Given the description of an element on the screen output the (x, y) to click on. 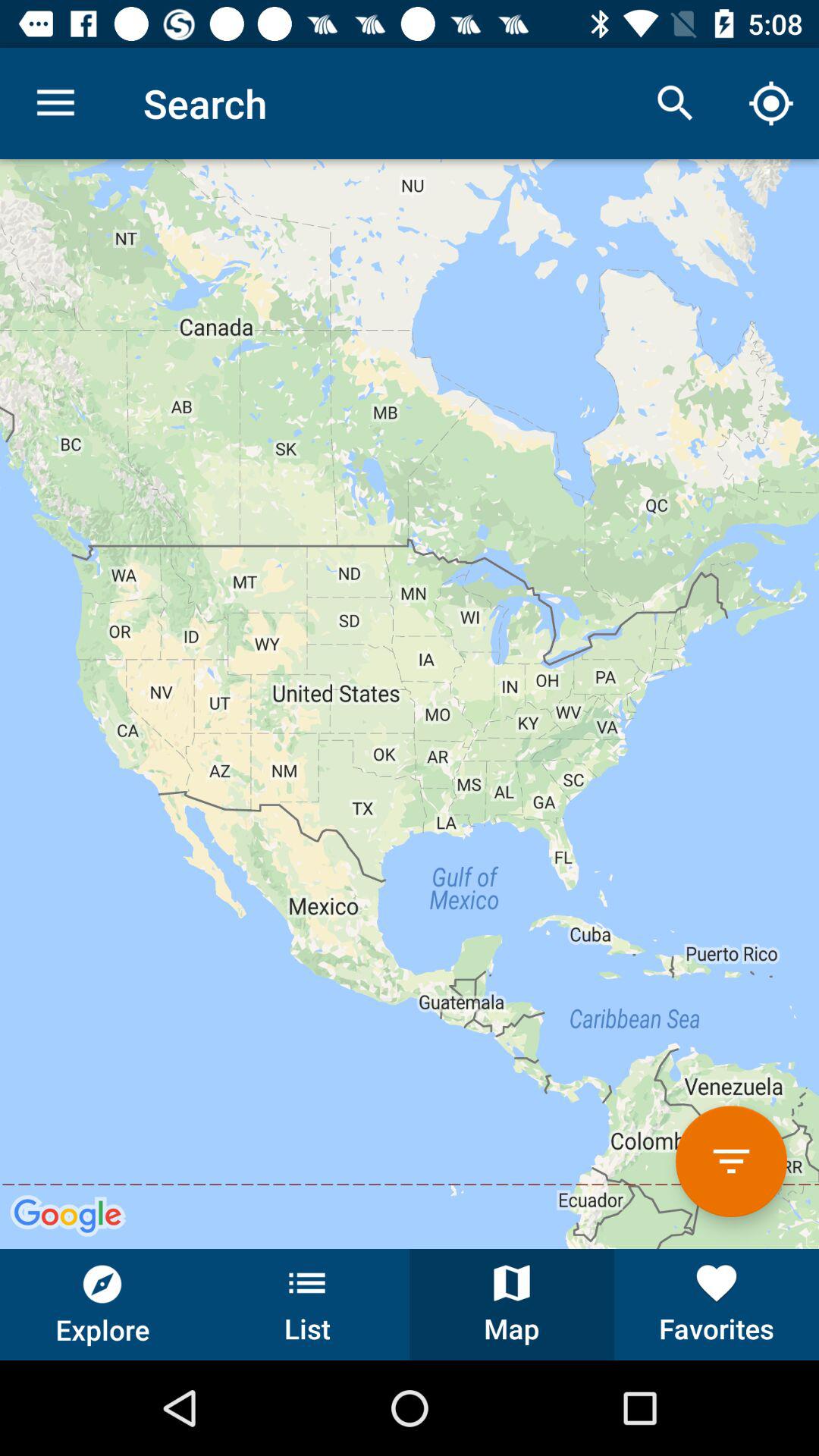
open item next to the search (55, 103)
